Given the description of an element on the screen output the (x, y) to click on. 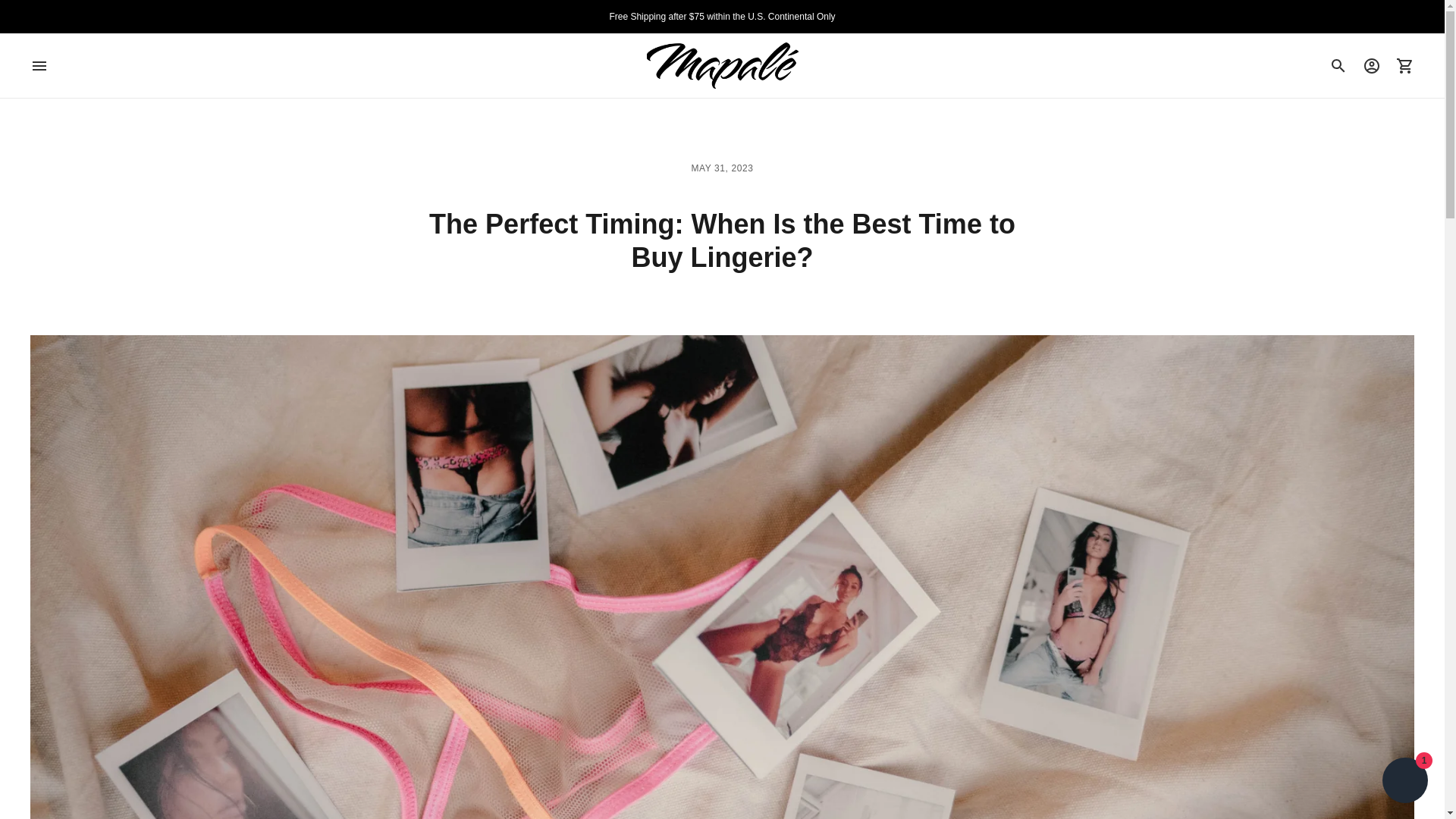
Shopify online store chat (1404, 781)
